Given the description of an element on the screen output the (x, y) to click on. 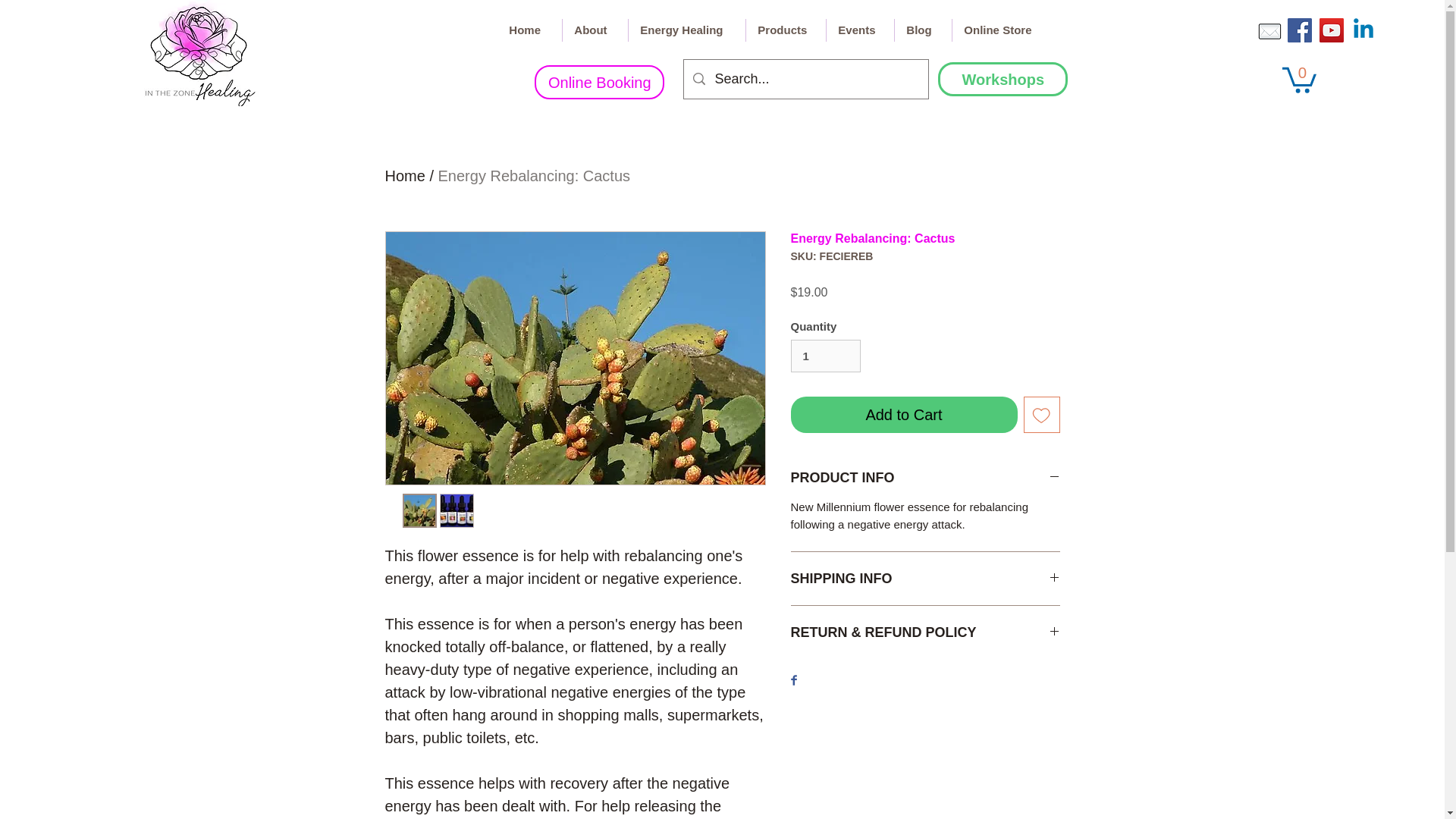
Home (529, 29)
Email Glenys (1269, 31)
1 (825, 356)
Blog (923, 29)
Online Store (1001, 29)
Events (860, 29)
Products (785, 29)
0 (1299, 78)
About (594, 29)
Online Booking (598, 82)
Energy Healing (686, 29)
